Given the description of an element on the screen output the (x, y) to click on. 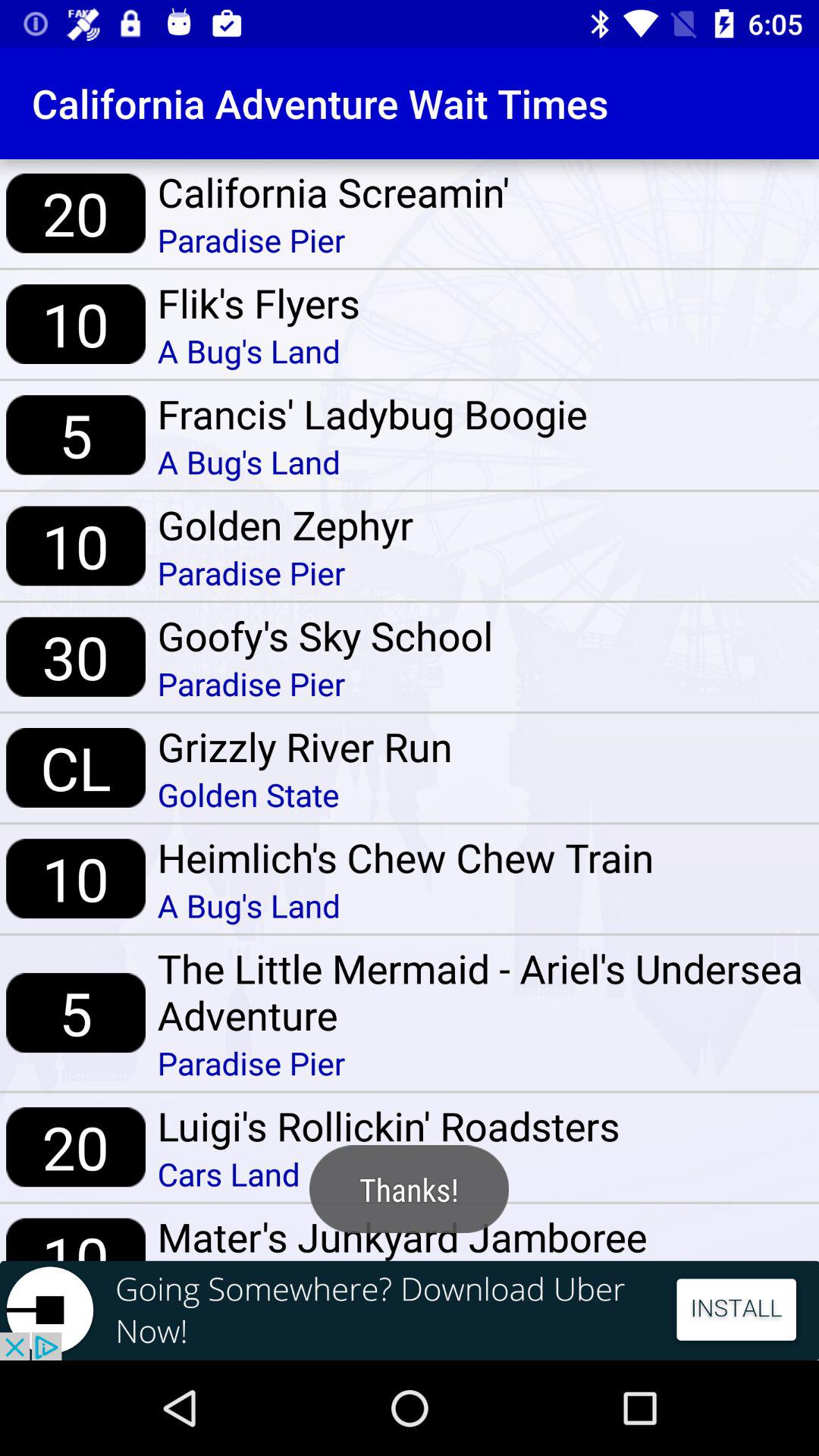
choose the item below golden state icon (405, 856)
